Given the description of an element on the screen output the (x, y) to click on. 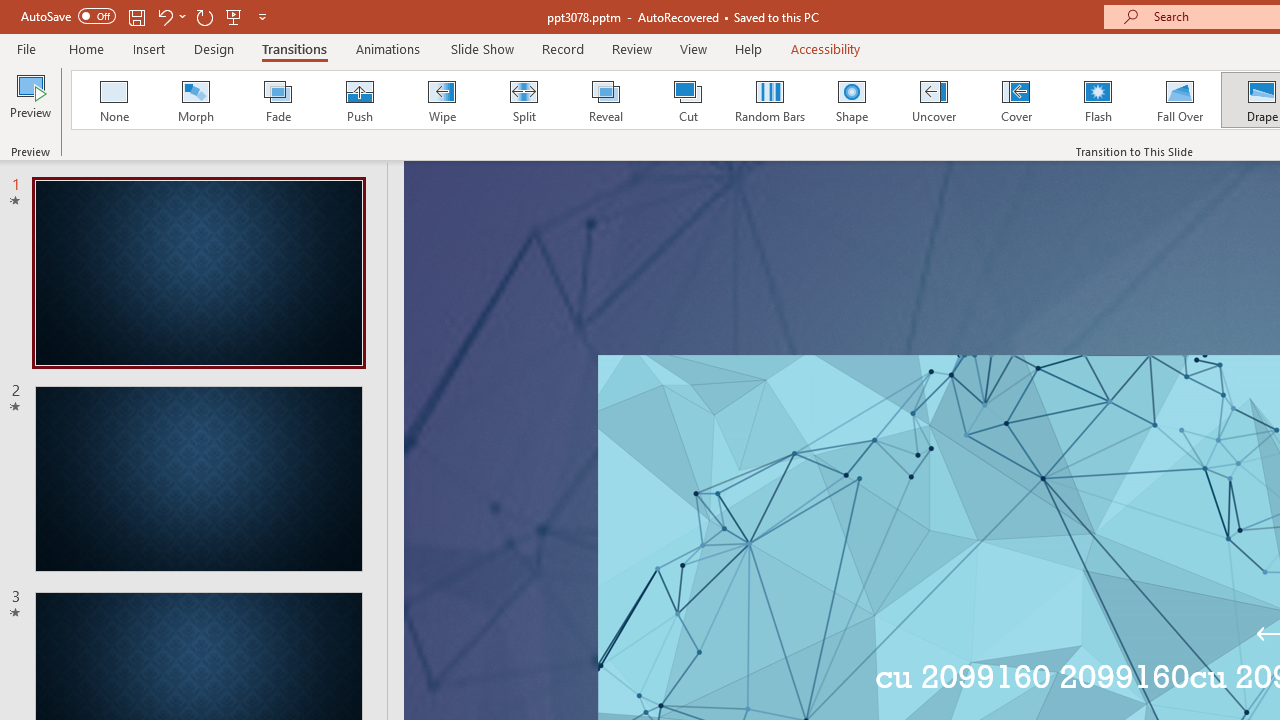
Flash (1098, 100)
